Given the description of an element on the screen output the (x, y) to click on. 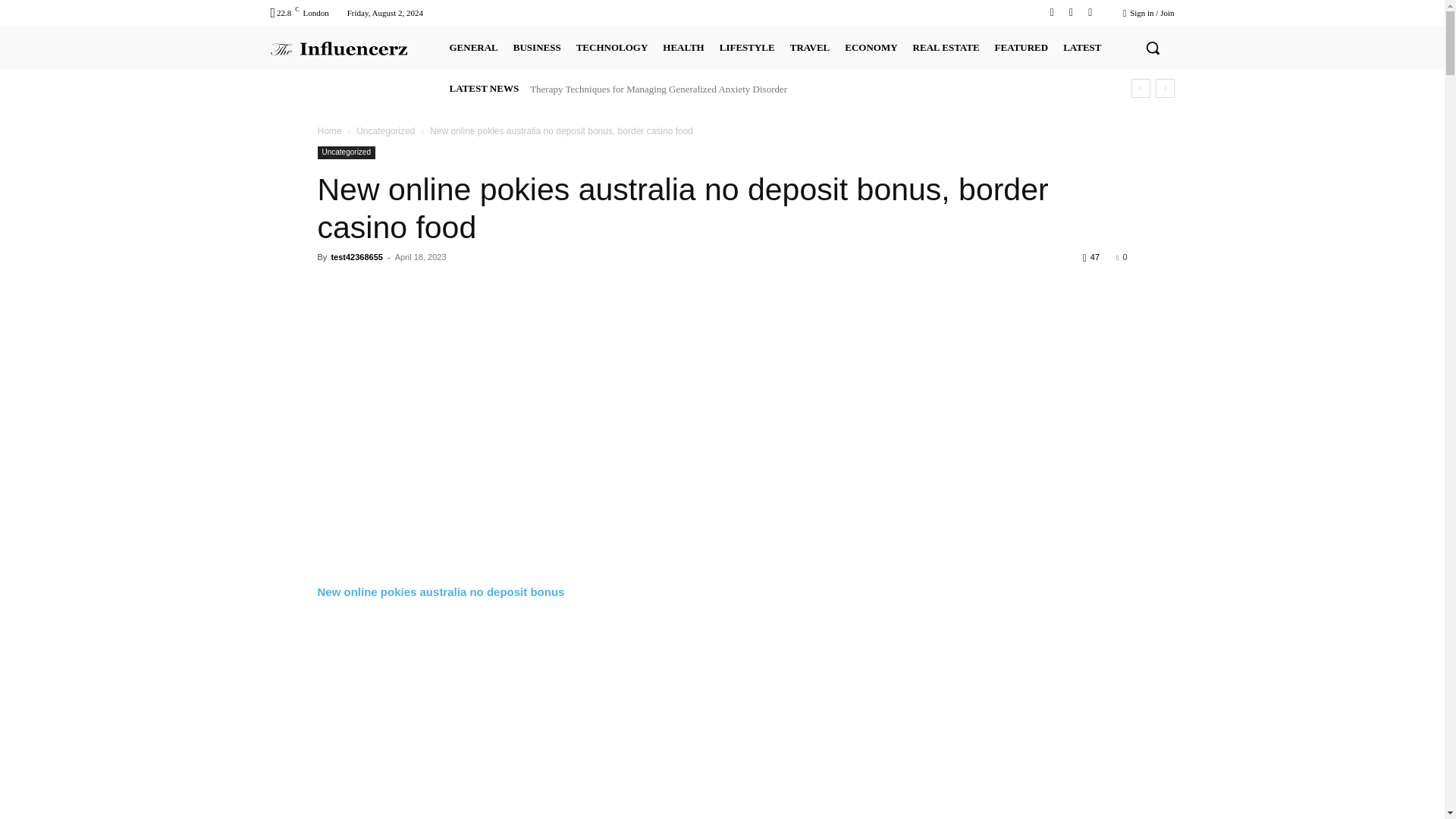
HEALTH (683, 46)
BUSINESS (536, 46)
GENERAL (472, 46)
LIFESTYLE (746, 46)
TRAVEL (809, 46)
FEATURED (1021, 46)
TECHNOLOGY (611, 46)
Facebook (1051, 12)
Twitter (1070, 12)
REAL ESTATE (946, 46)
